Given the description of an element on the screen output the (x, y) to click on. 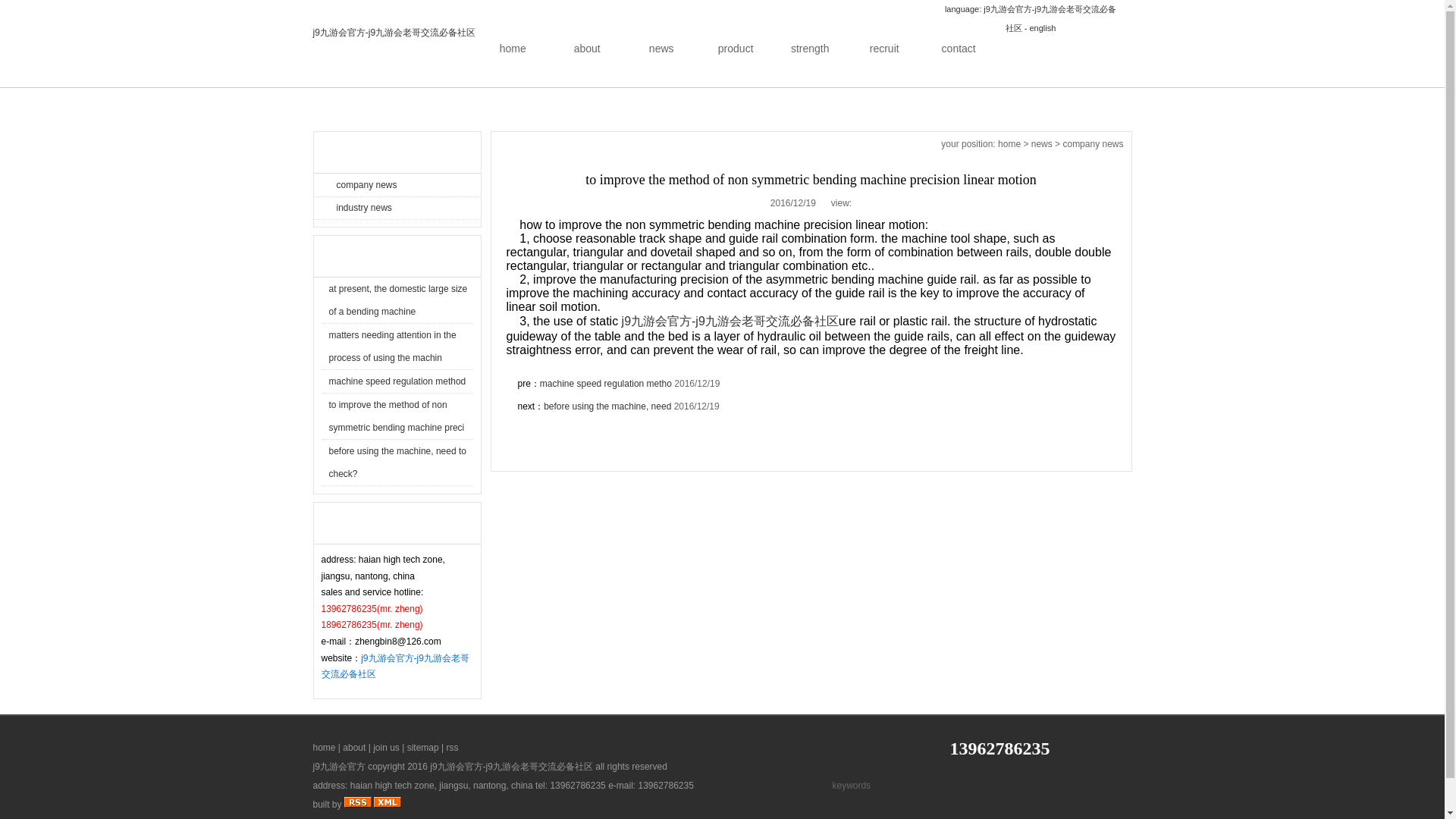
machine speed regulation metho (605, 383)
to improve the method of non symmetric bending machine preci (396, 416)
machine speed regulation method (397, 380)
matters needing attention in the process of using the machin (393, 346)
keywords (869, 785)
before using the machine, need (607, 406)
at present, the domestic large size of a bending machine (398, 299)
at present, the domestic large size of a bending machine (398, 299)
recruit (884, 48)
company news (1092, 143)
about (353, 747)
product (735, 48)
industry news (397, 208)
rss (451, 747)
